Given the description of an element on the screen output the (x, y) to click on. 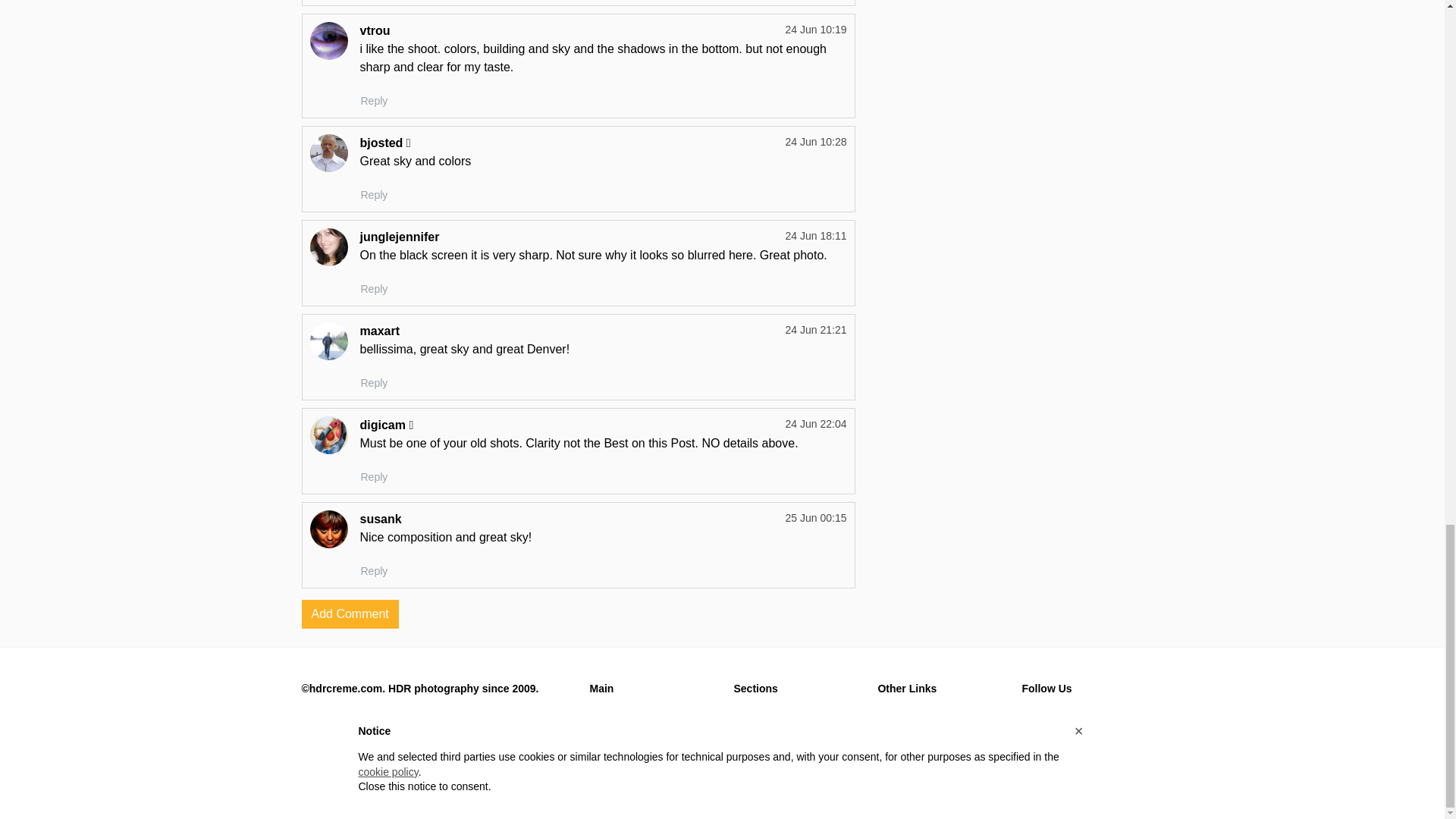
Reply (373, 289)
Reply (373, 100)
Reply (373, 383)
Reply (373, 194)
